Given the description of an element on the screen output the (x, y) to click on. 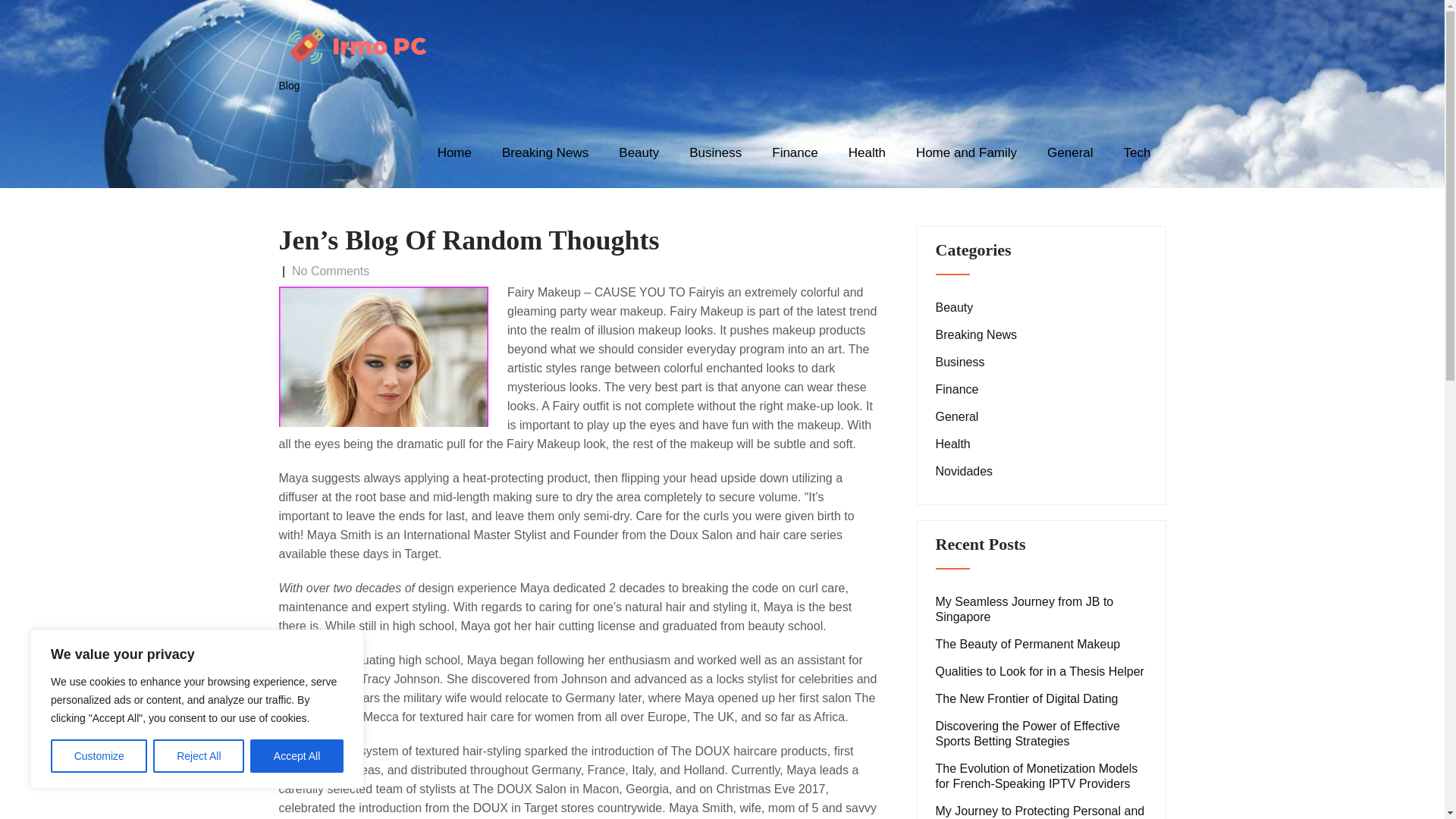
The Beauty of Permanent Makeup (1028, 644)
Home and Family (966, 152)
Home (454, 152)
Reject All (198, 756)
Customize (98, 756)
Novidades (964, 471)
My Seamless Journey from JB to Singapore (1041, 609)
Finance (794, 152)
Beauty (955, 307)
Health (866, 152)
